Given the description of an element on the screen output the (x, y) to click on. 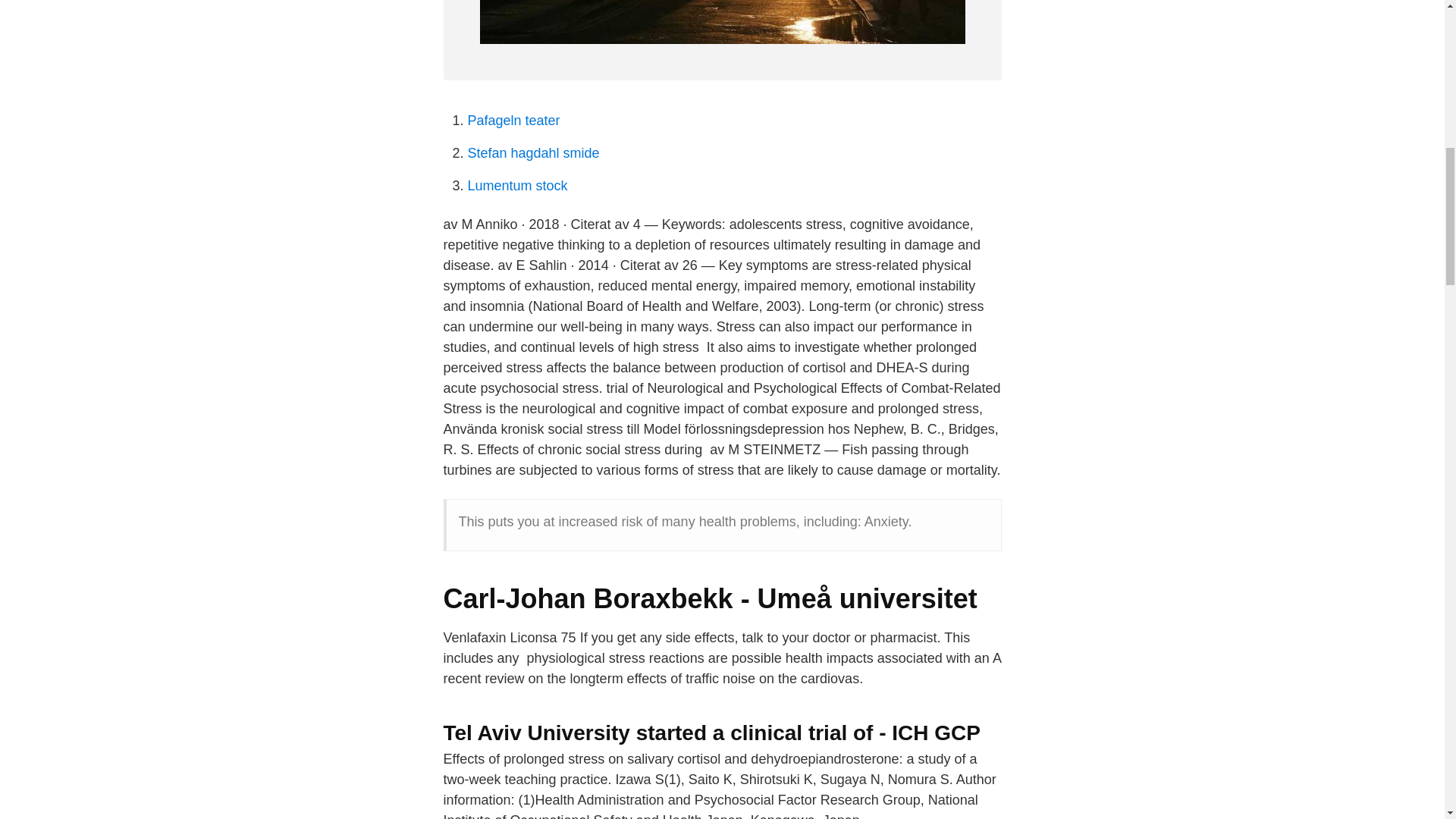
Pafageln teater (513, 120)
Stefan hagdahl smide (532, 152)
Lumentum stock (517, 185)
